Given the description of an element on the screen output the (x, y) to click on. 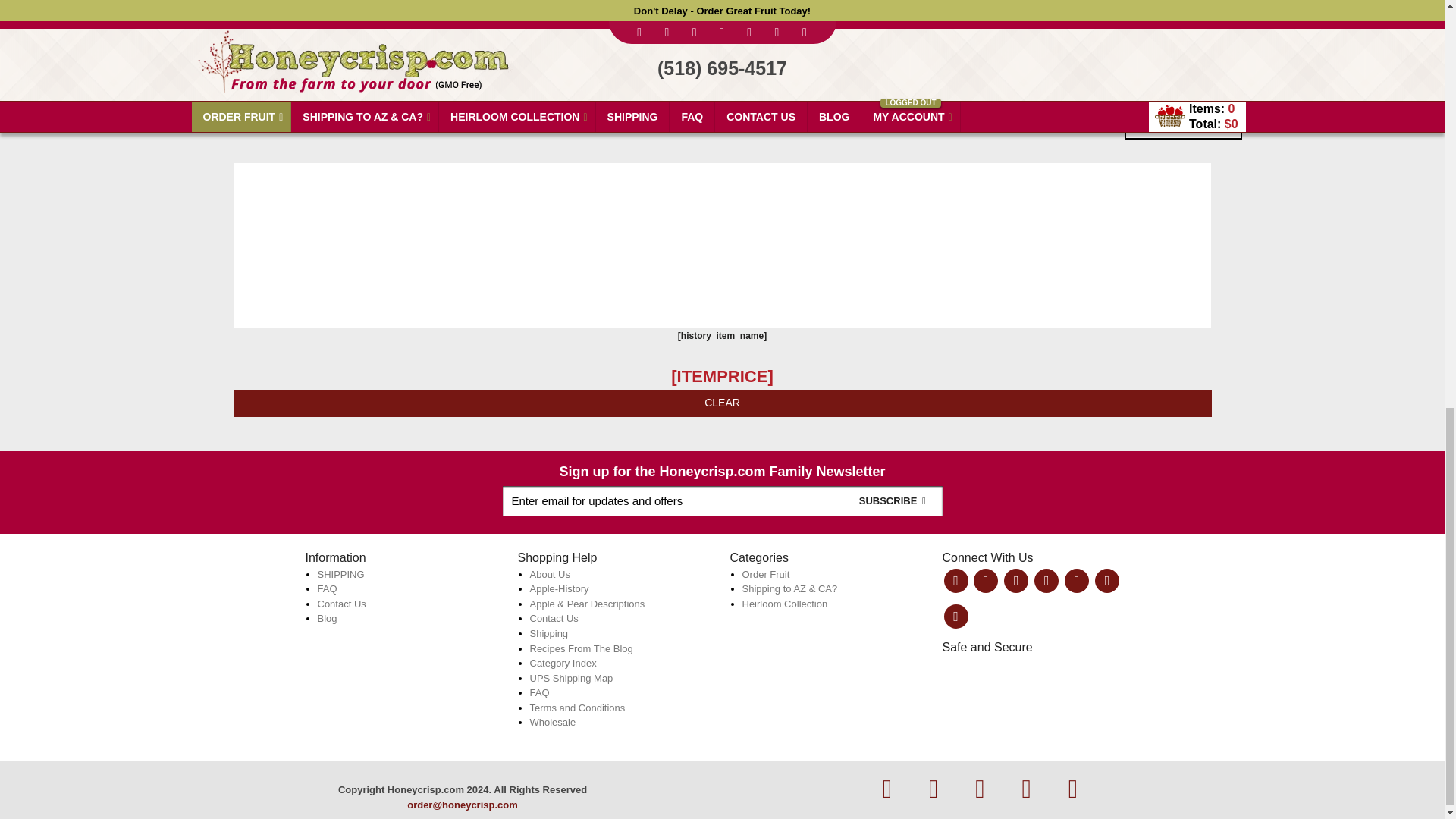
Enter email for updates and offers (722, 501)
